Given the description of an element on the screen output the (x, y) to click on. 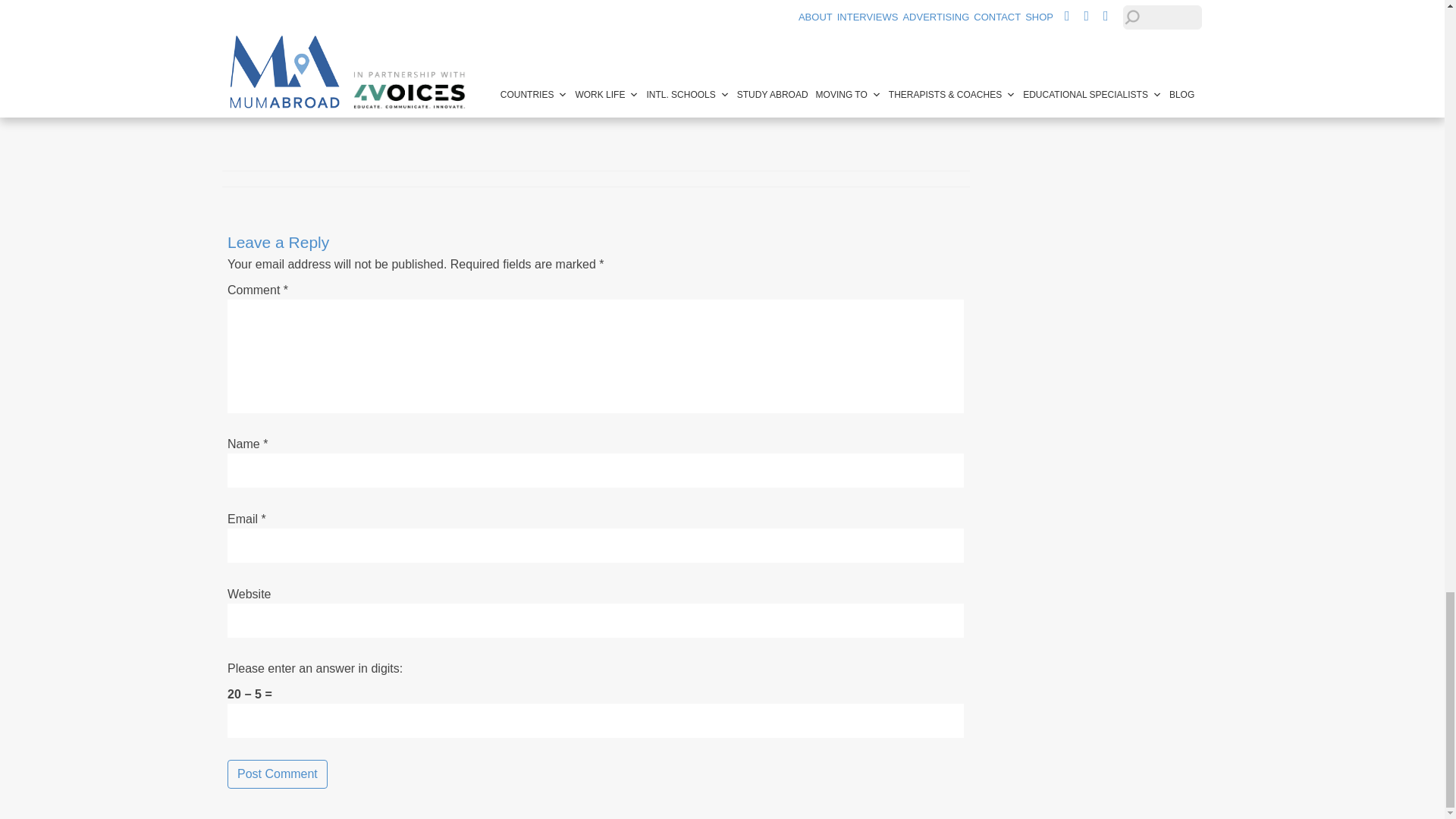
Post Comment (277, 774)
